Given the description of an element on the screen output the (x, y) to click on. 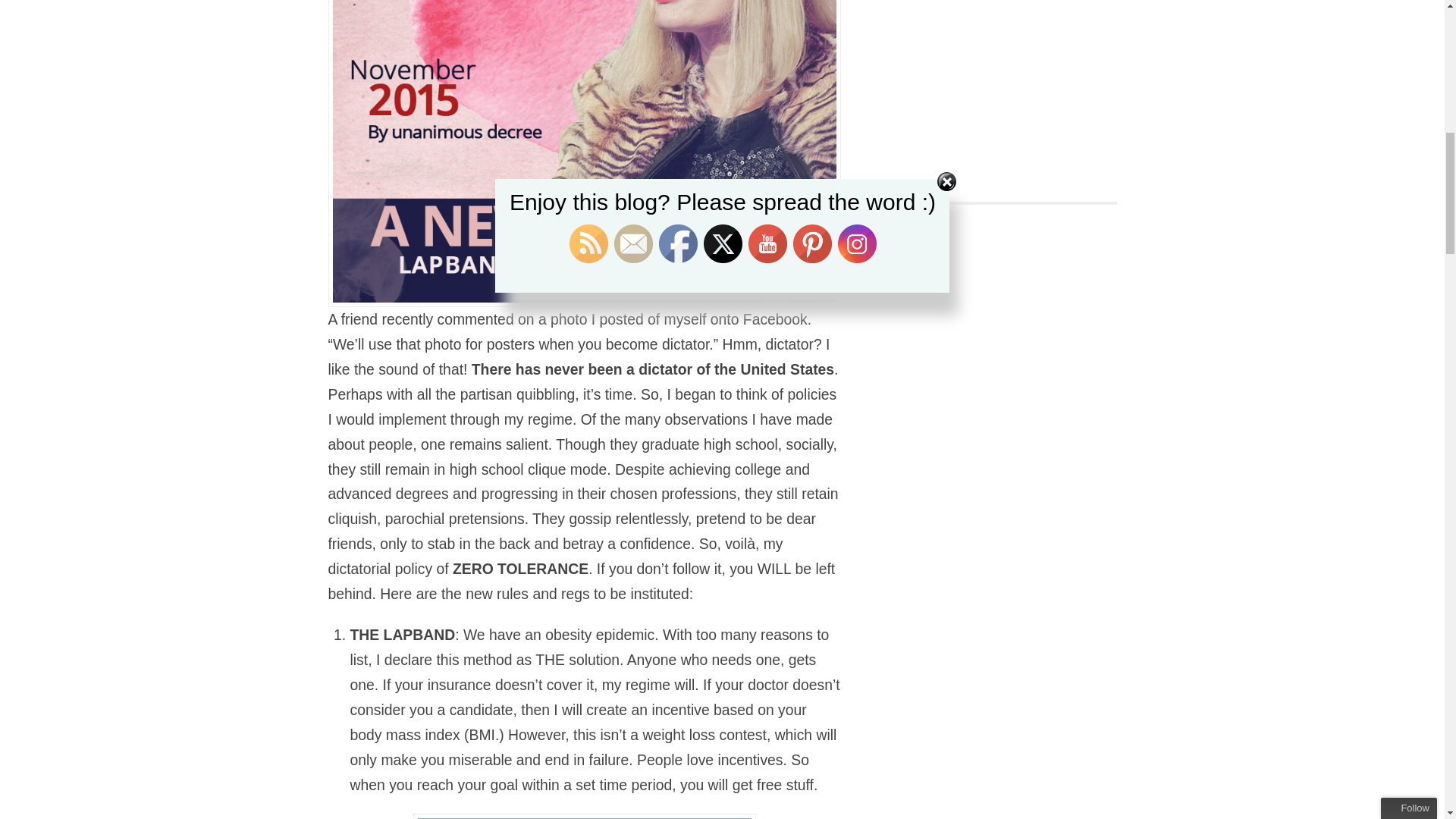
Enter email address (1368, 111)
Advertisement (1012, 81)
Subscribe (1360, 139)
